Given the description of an element on the screen output the (x, y) to click on. 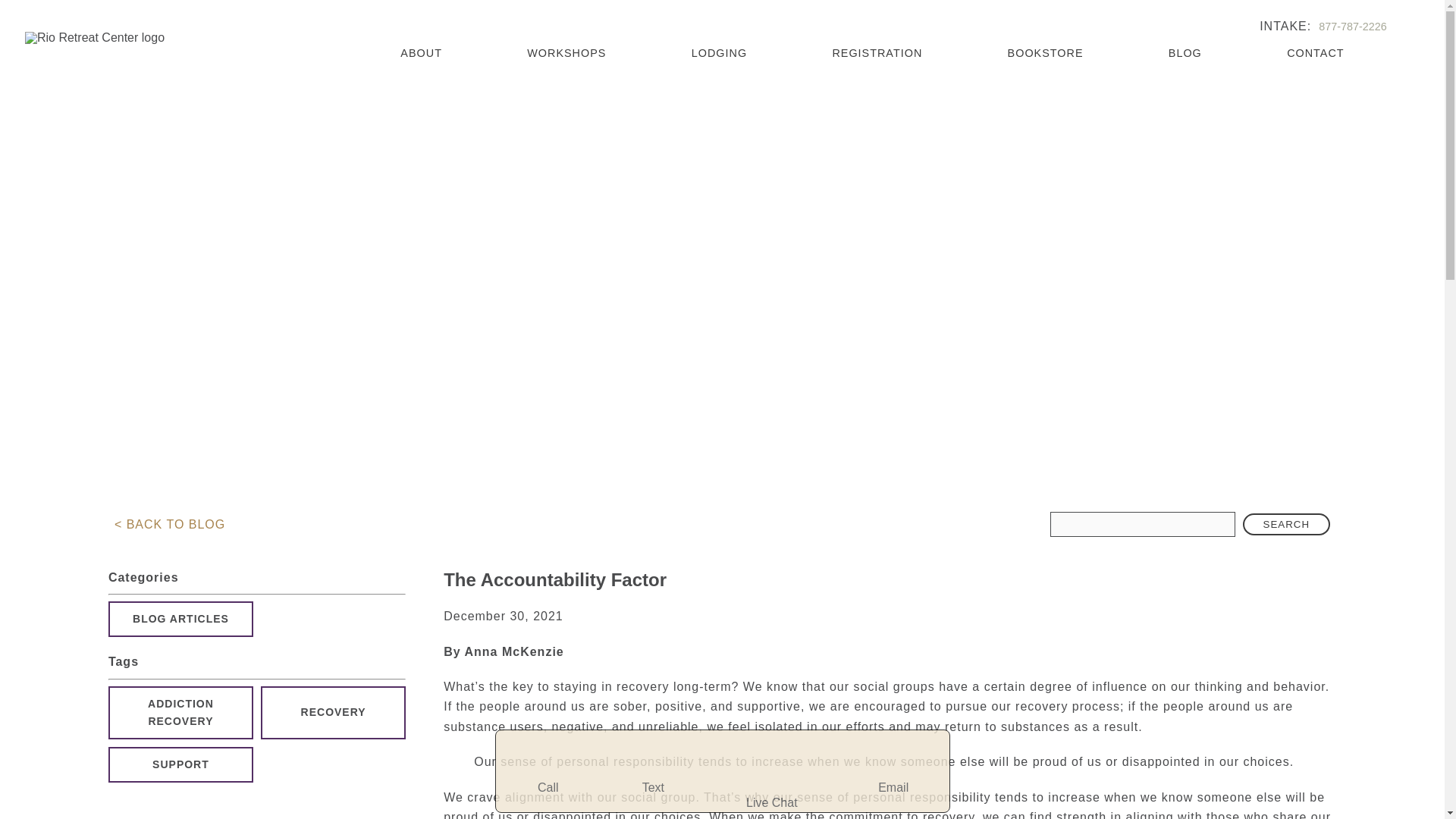
WORKSHOPS (566, 52)
877-787-2226 (1353, 26)
Search (1286, 524)
REGISTRATION (876, 52)
ABOUT (421, 52)
LODGING (718, 52)
